Given the description of an element on the screen output the (x, y) to click on. 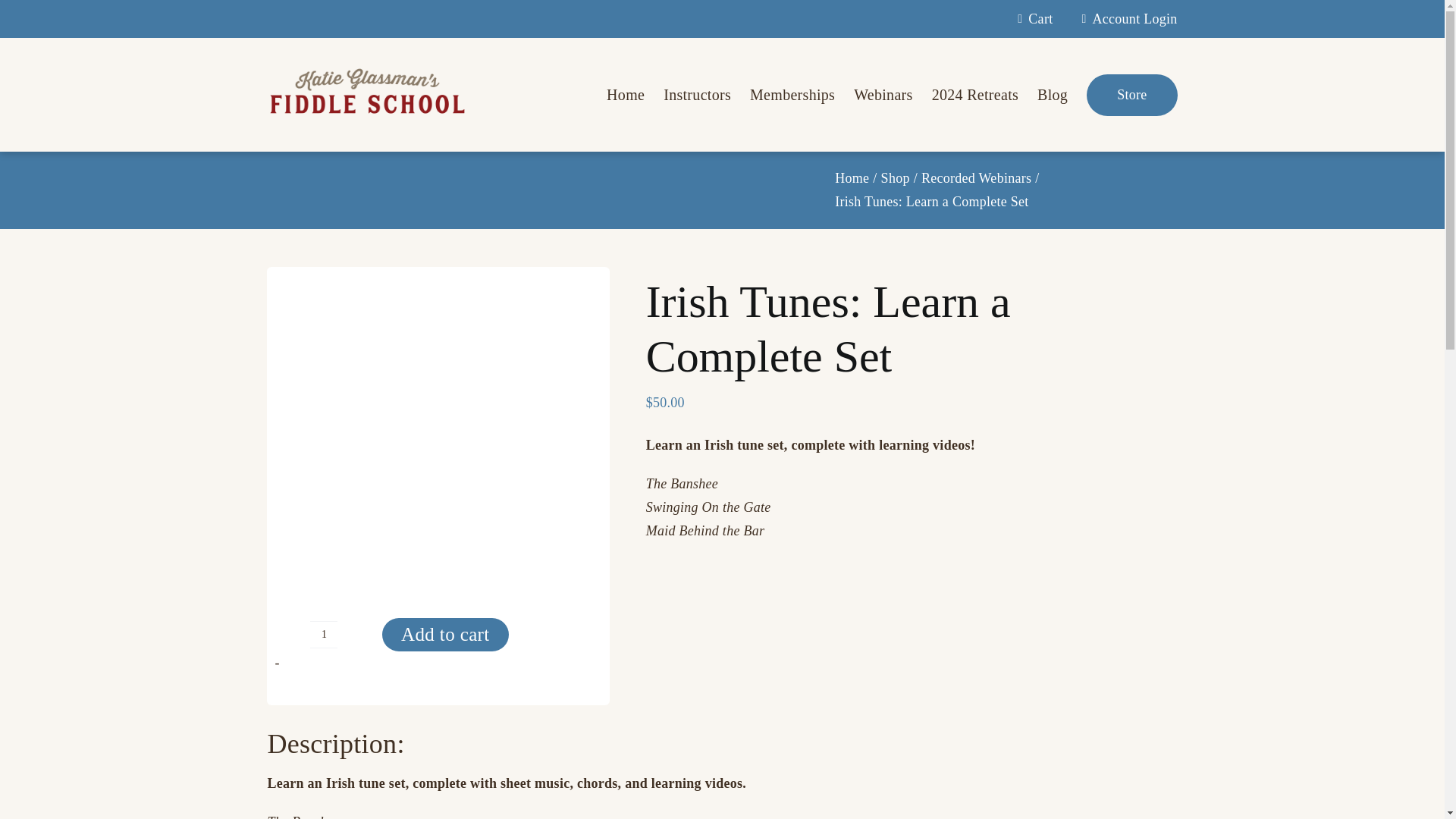
Blog (1051, 94)
Recorded Webinars (975, 177)
Home (626, 94)
1 (323, 634)
Webinars (882, 94)
2024 Retreats (974, 94)
Memberships (791, 94)
Store (1131, 95)
Instructors (696, 94)
Cart (1031, 19)
Home (851, 177)
Shop (895, 177)
Account Login (1125, 19)
Add to cart (444, 634)
